Given the description of an element on the screen output the (x, y) to click on. 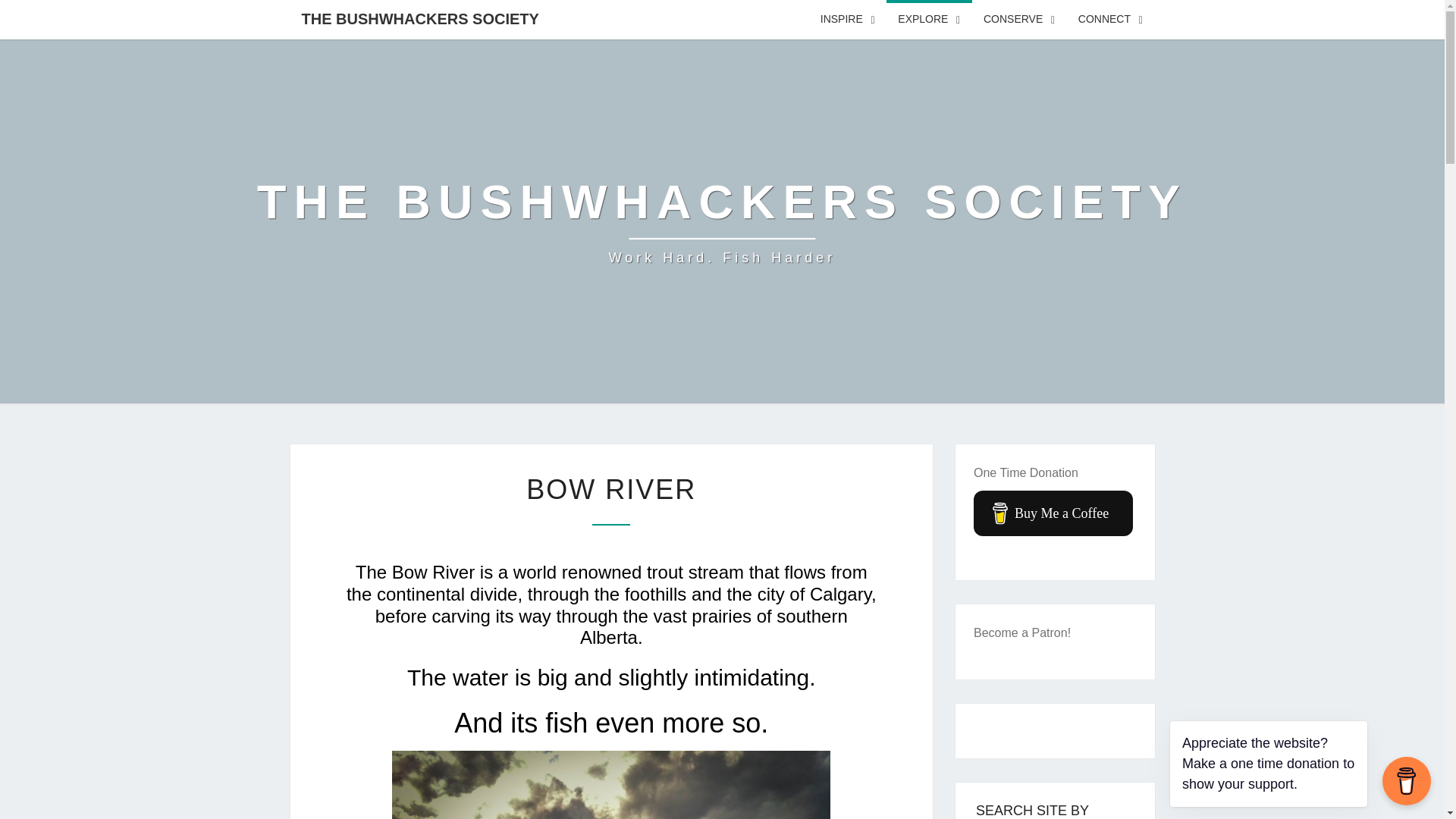
THE BUSHWHACKERS SOCIETY (419, 18)
The Bushwhackers Society (722, 221)
EXPLORE (929, 19)
INSPIRE (847, 19)
CONSERVE (1019, 19)
